Given the description of an element on the screen output the (x, y) to click on. 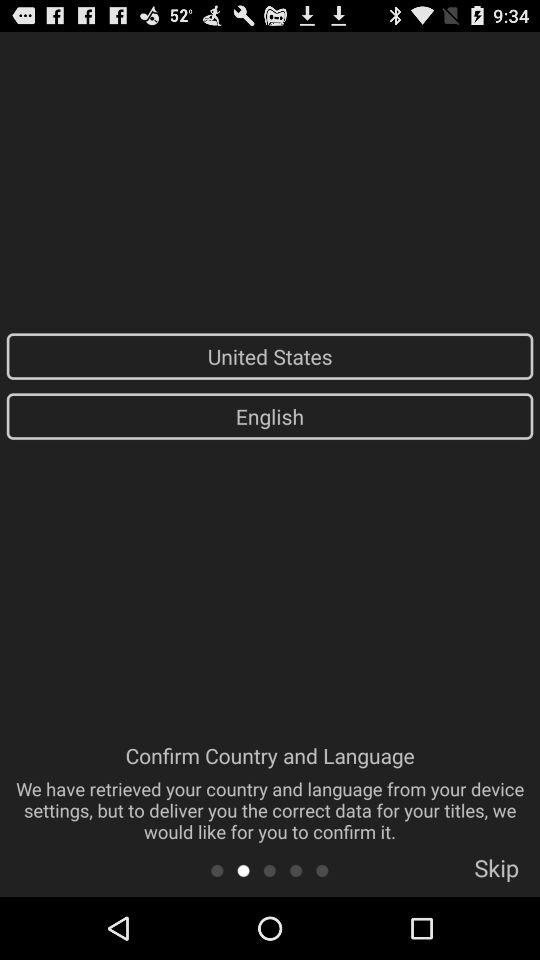
launch app below the united states icon (269, 416)
